Given the description of an element on the screen output the (x, y) to click on. 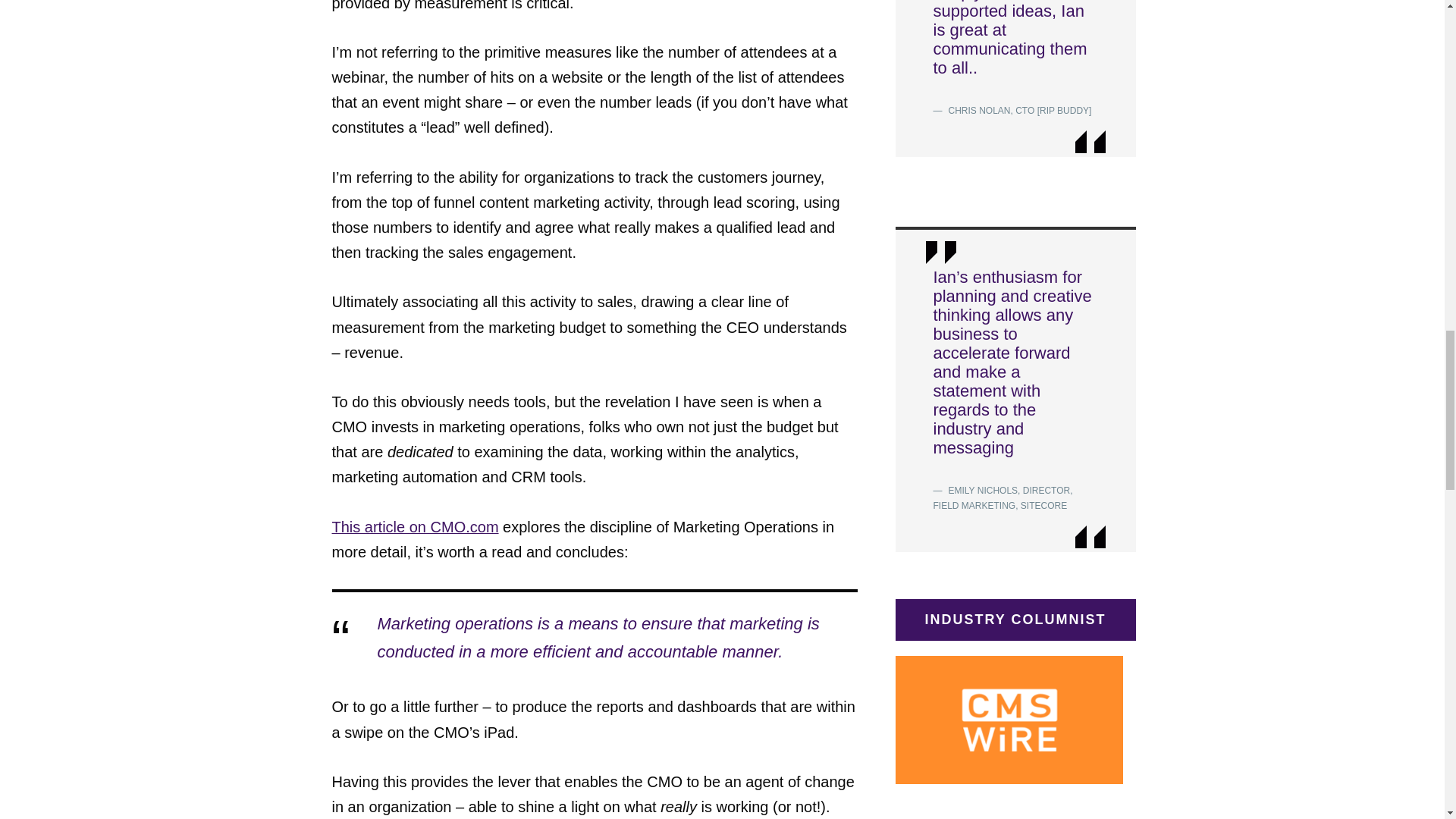
This article on CMO.com (415, 526)
